Given the description of an element on the screen output the (x, y) to click on. 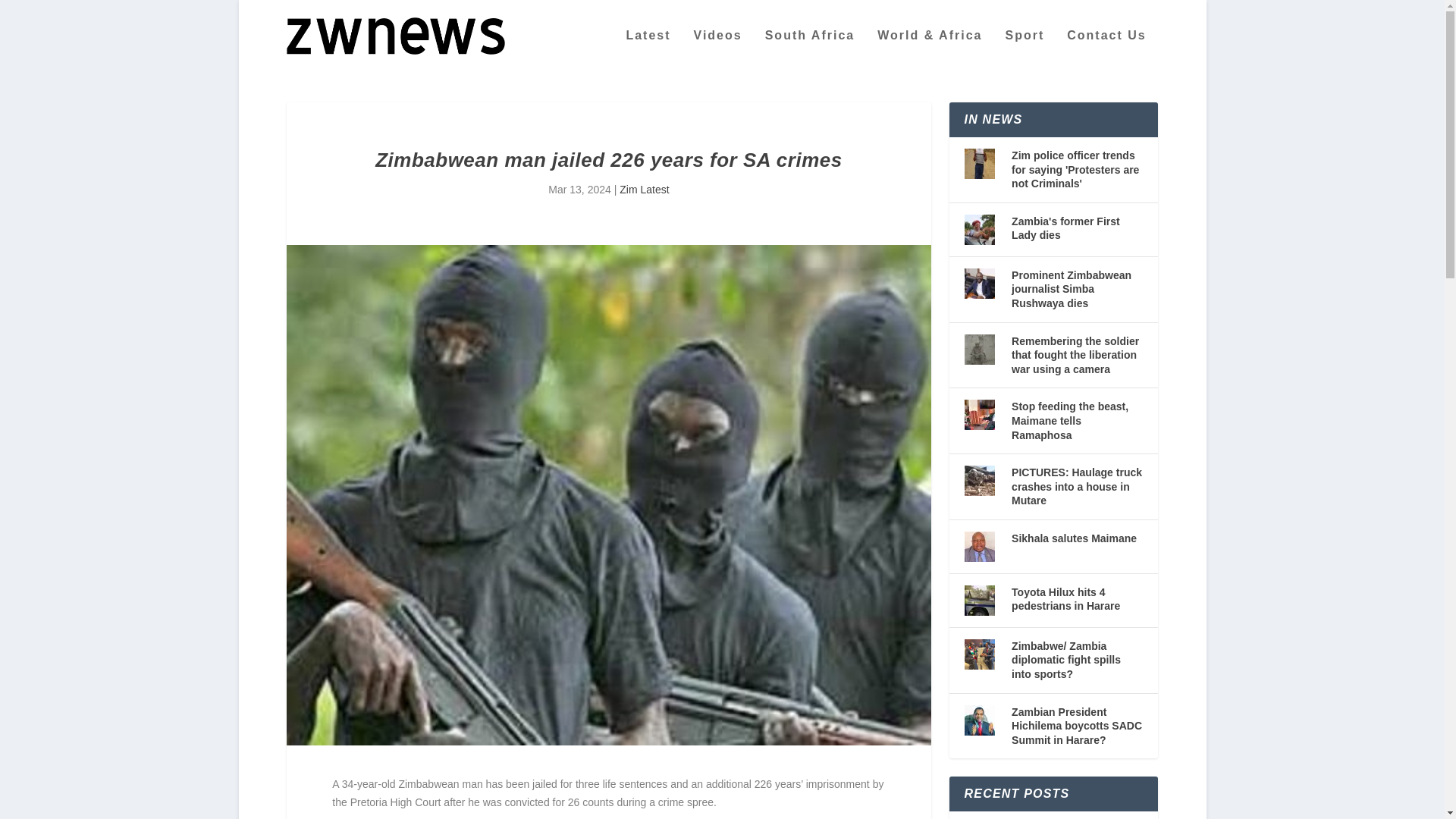
Latest (647, 50)
Zim Latest (644, 189)
Videos (718, 50)
South Africa (810, 50)
